Given the description of an element on the screen output the (x, y) to click on. 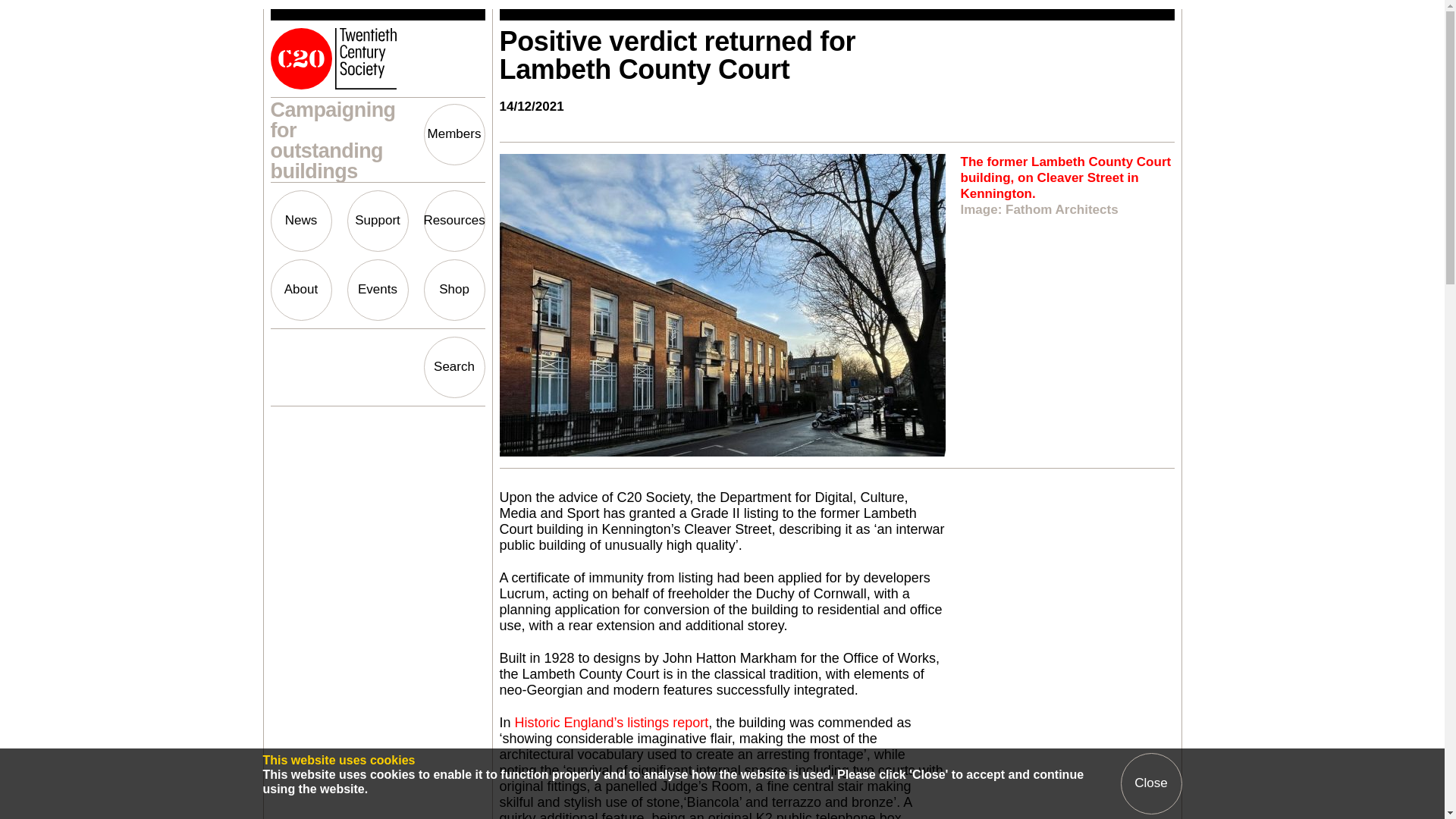
Resources (453, 220)
Shop (453, 290)
Support (378, 220)
Members (453, 134)
News (300, 220)
About (300, 290)
Events (378, 290)
